Given the description of an element on the screen output the (x, y) to click on. 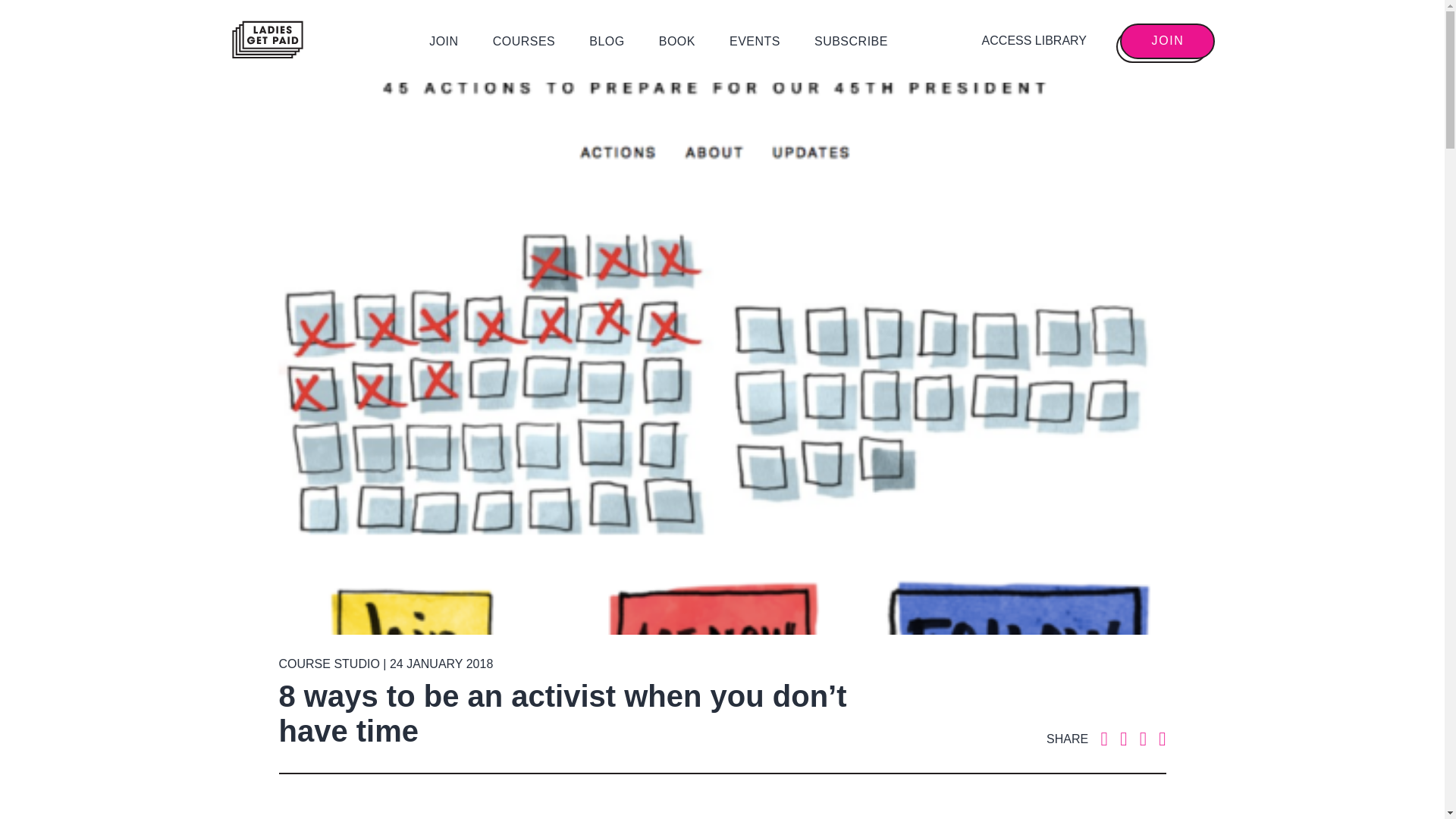
SUBSCRIBE (850, 41)
JOIN (443, 41)
COURSES (524, 41)
ACCESS LIBRARY (1033, 40)
EVENTS (754, 41)
BLOG (606, 41)
JOIN (1166, 40)
BOOK (677, 41)
